Given the description of an element on the screen output the (x, y) to click on. 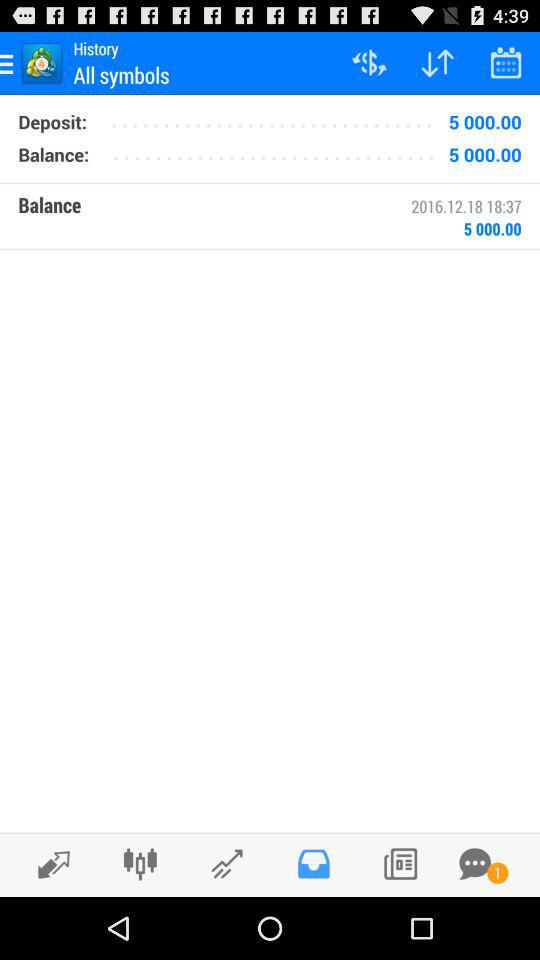
open news tab (400, 863)
